Given the description of an element on the screen output the (x, y) to click on. 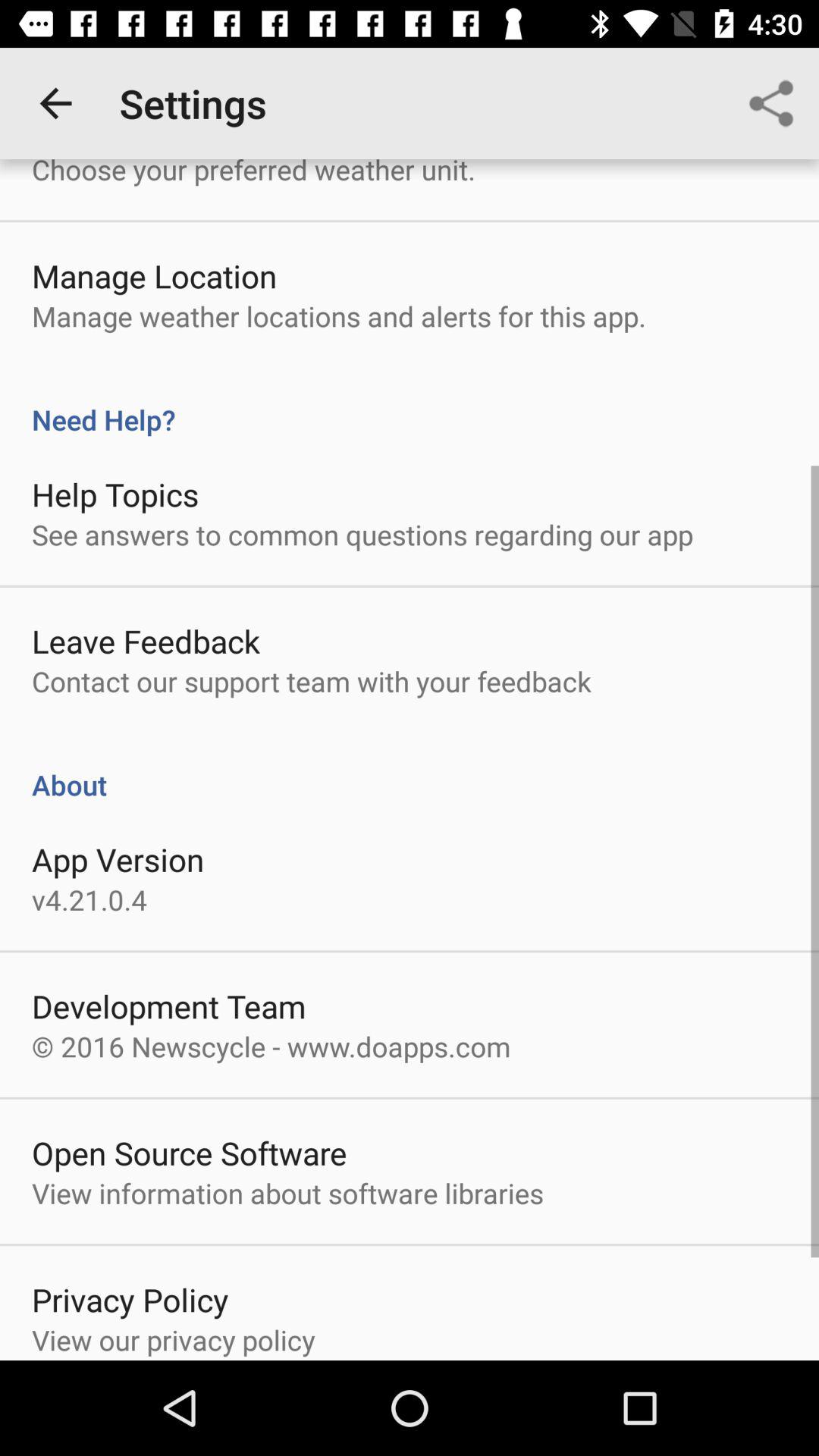
open the item above the open source software (270, 1046)
